Given the description of an element on the screen output the (x, y) to click on. 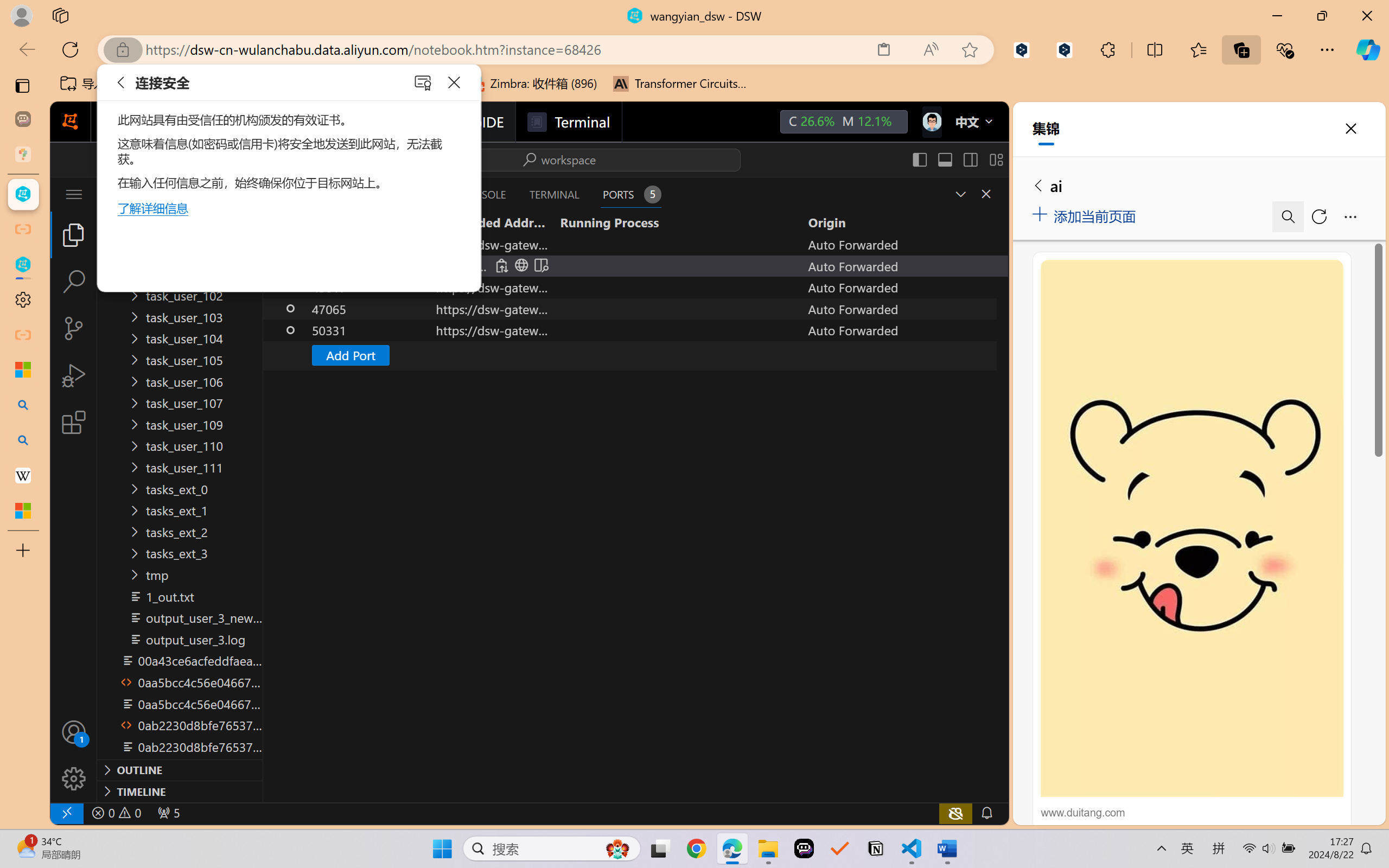
Timeline Section (179, 791)
Open in Browser (520, 265)
Earth - Wikipedia (22, 475)
Copilot (Ctrl+Shift+.) (1368, 49)
